Given the description of an element on the screen output the (x, y) to click on. 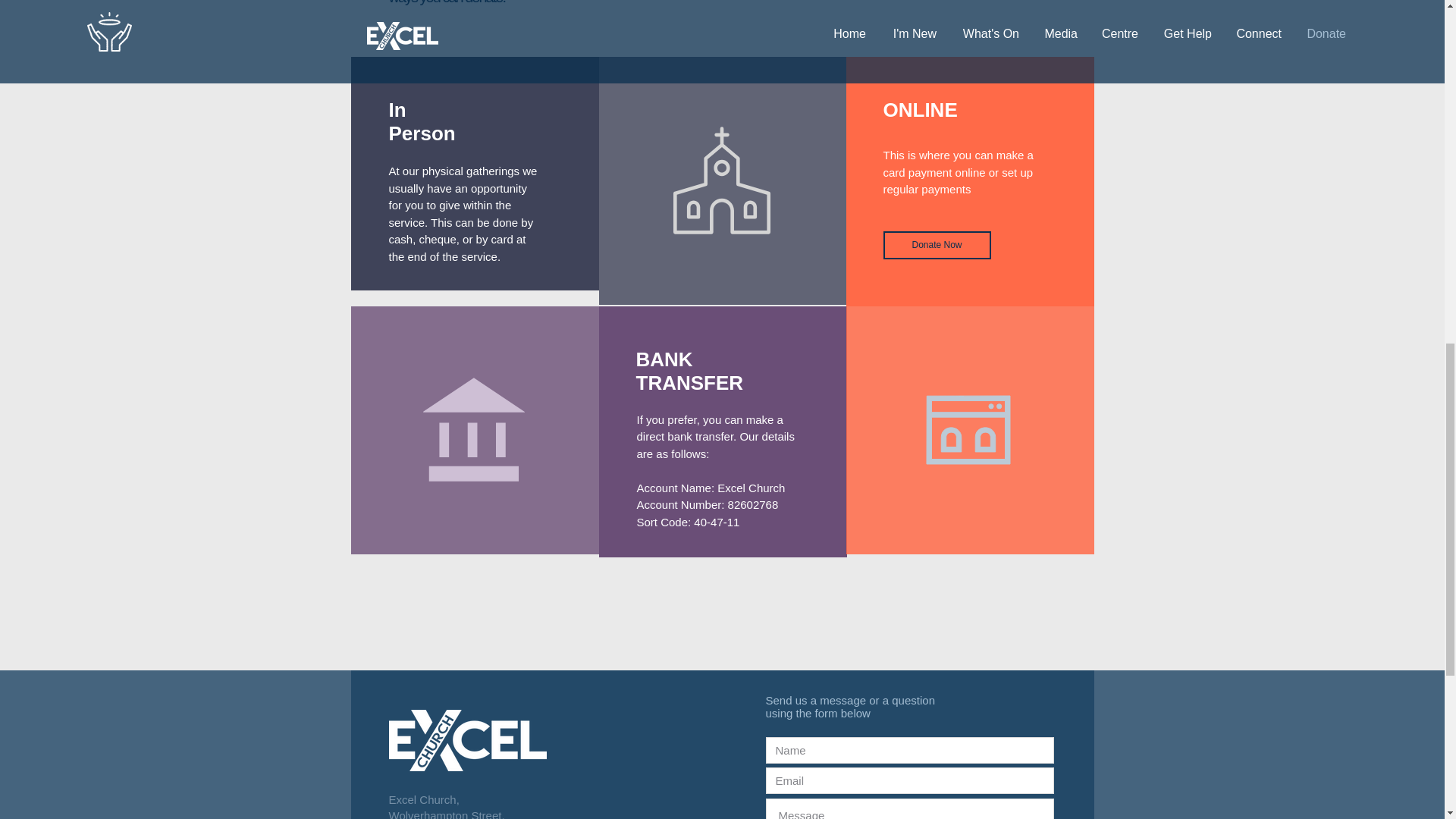
ExcelChurchWhiteCompletelyTransp.png (467, 740)
